Given the description of an element on the screen output the (x, y) to click on. 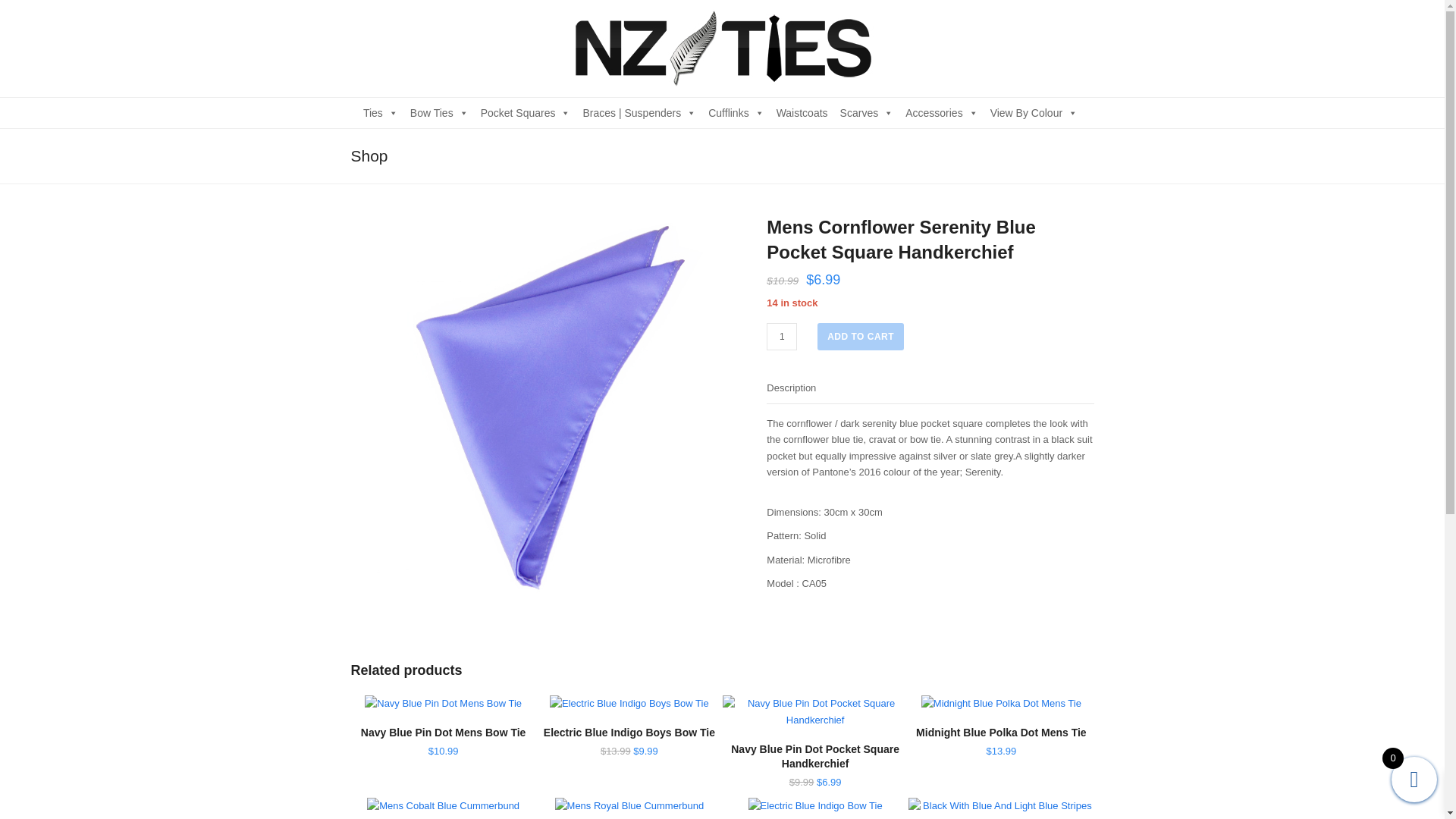
1 (781, 336)
Qty (781, 336)
Ties (380, 112)
Pocket Squares (526, 112)
Bow Ties (438, 112)
